Given the description of an element on the screen output the (x, y) to click on. 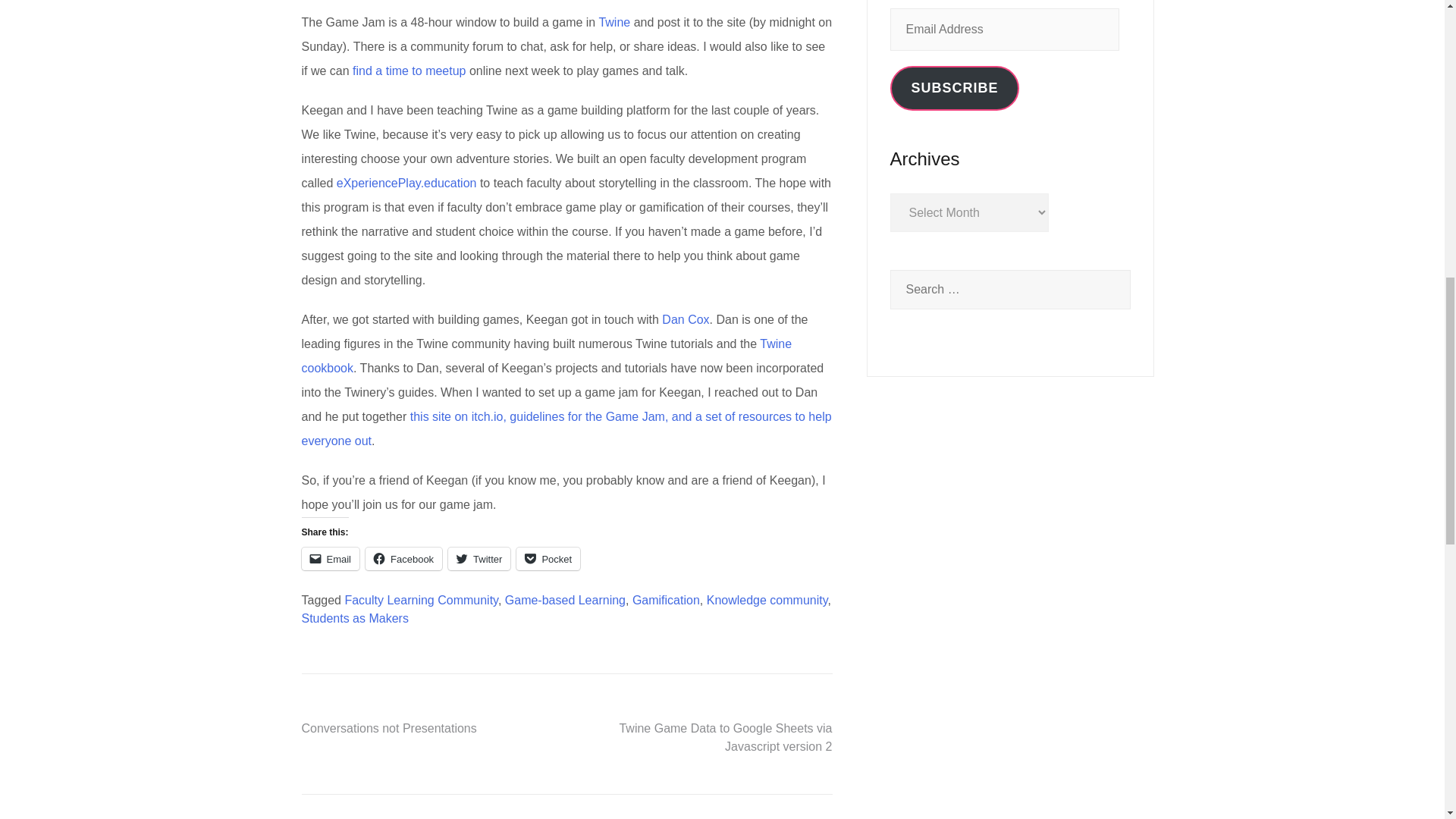
Twine (614, 21)
Click to share on Pocket (547, 558)
Click to share on Twitter (479, 558)
Students as Makers (355, 617)
Faculty Learning Community (420, 599)
Twitter (479, 558)
find a time to meetup (408, 70)
Facebook (403, 558)
Email (330, 558)
